Given the description of an element on the screen output the (x, y) to click on. 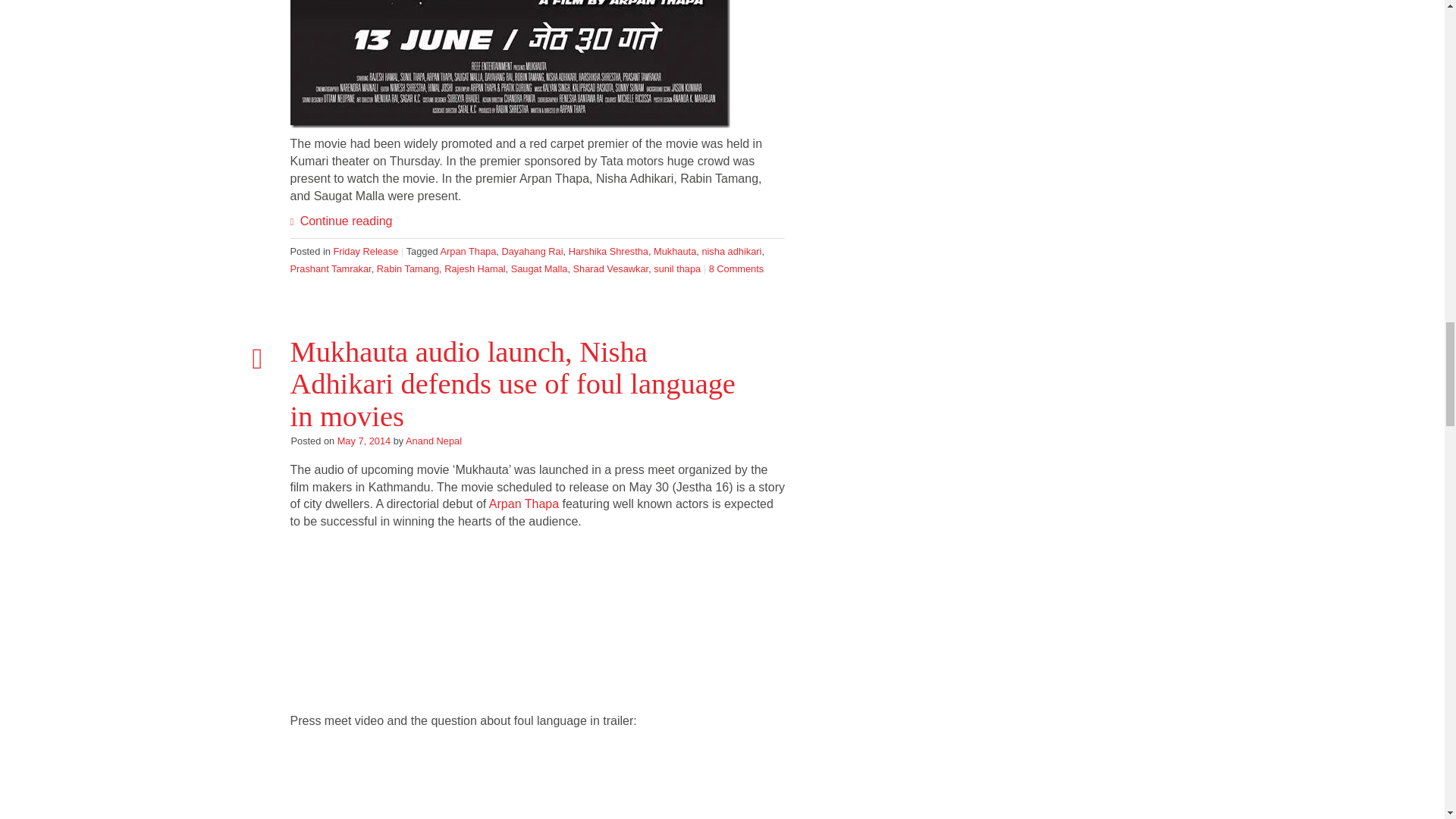
mukhauta poster (509, 63)
